Given the description of an element on the screen output the (x, y) to click on. 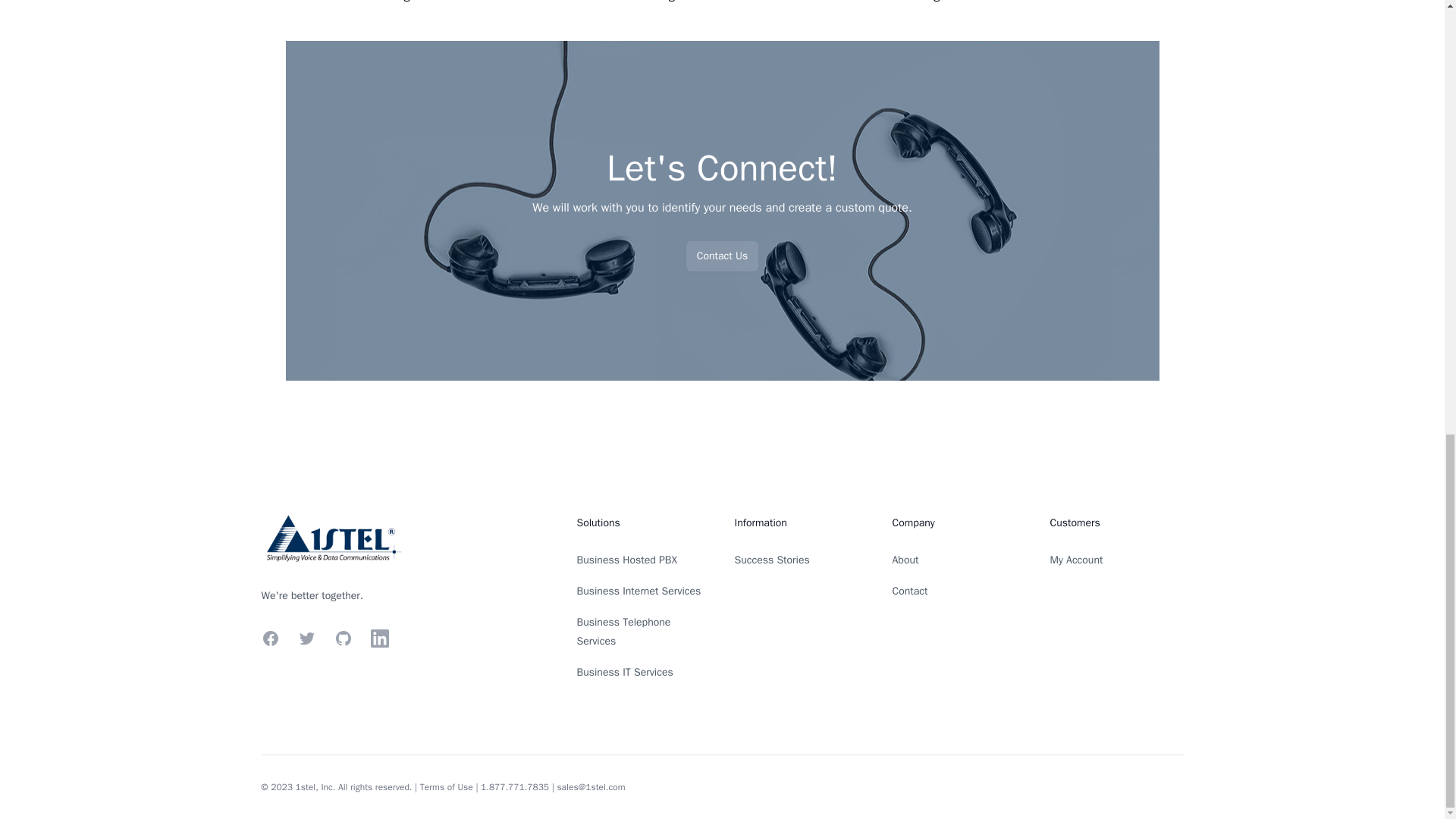
My Account (1075, 559)
About (904, 559)
GitHub (342, 638)
Business Telephone Services (622, 631)
Business Internet Services (638, 590)
Business Hosted PBX (626, 559)
Contact Us (721, 255)
1.877.771.7835 (514, 787)
Facebook (269, 638)
LinkedIn (378, 638)
Twitter (306, 638)
Terms of Use (446, 787)
Success Stories (771, 559)
Business IT Services (624, 671)
Contact (909, 590)
